Given the description of an element on the screen output the (x, y) to click on. 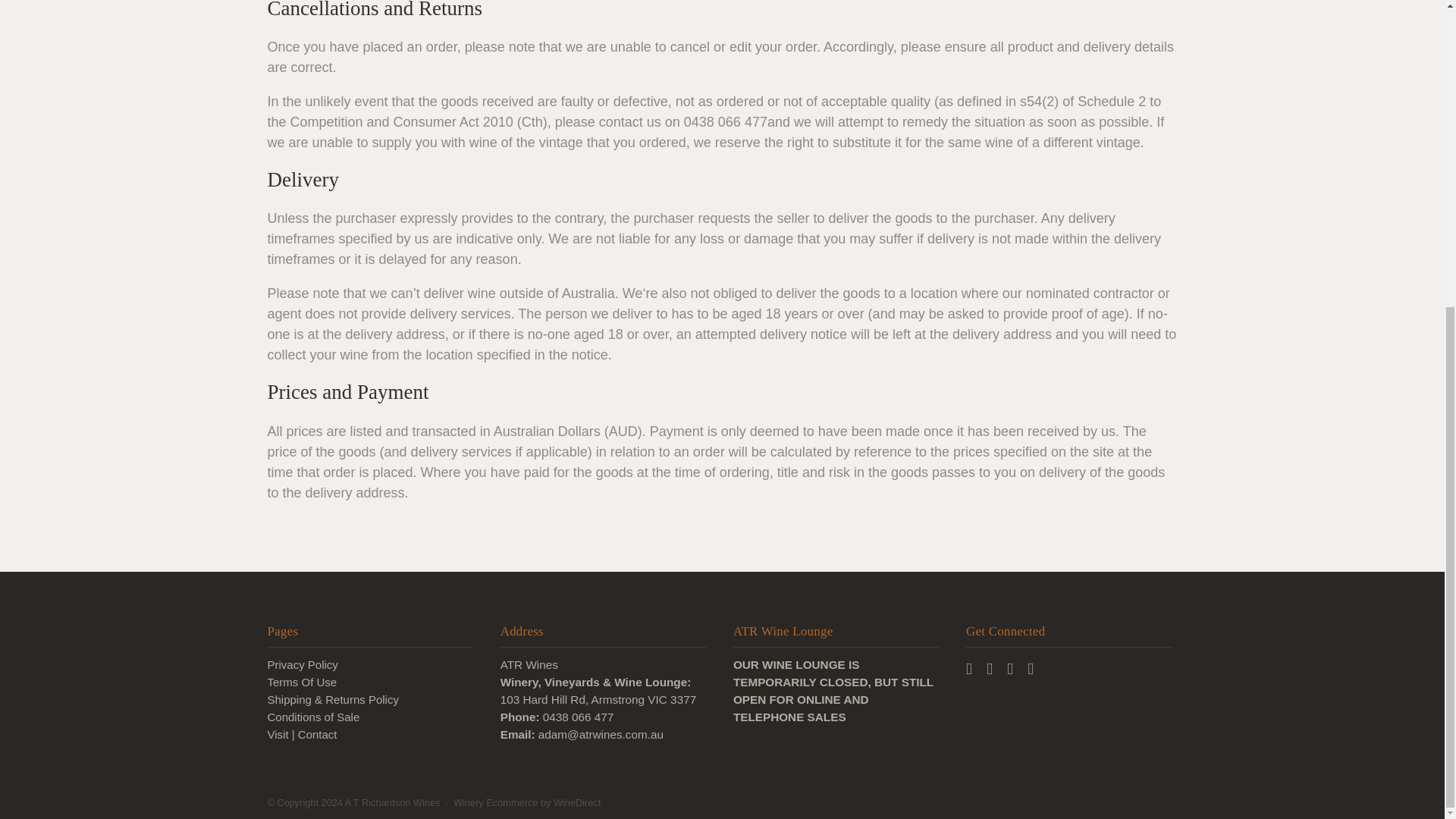
Conditions of Sale (312, 717)
Privacy Policy (301, 665)
Winery Ecommerce by WineDirect (525, 802)
Terms Of Use (301, 682)
